Given the description of an element on the screen output the (x, y) to click on. 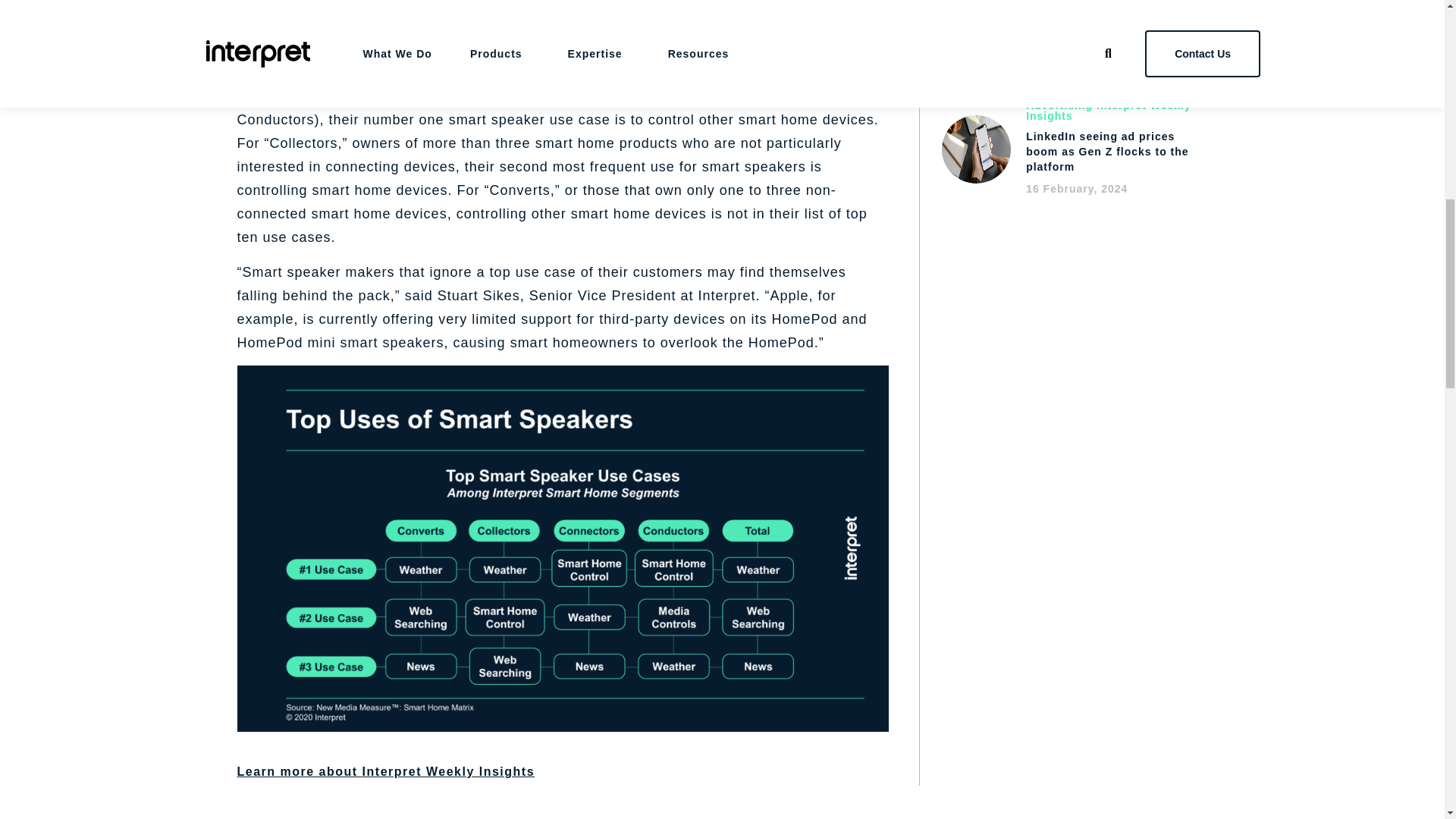
Form 0 (1074, 280)
